Given the description of an element on the screen output the (x, y) to click on. 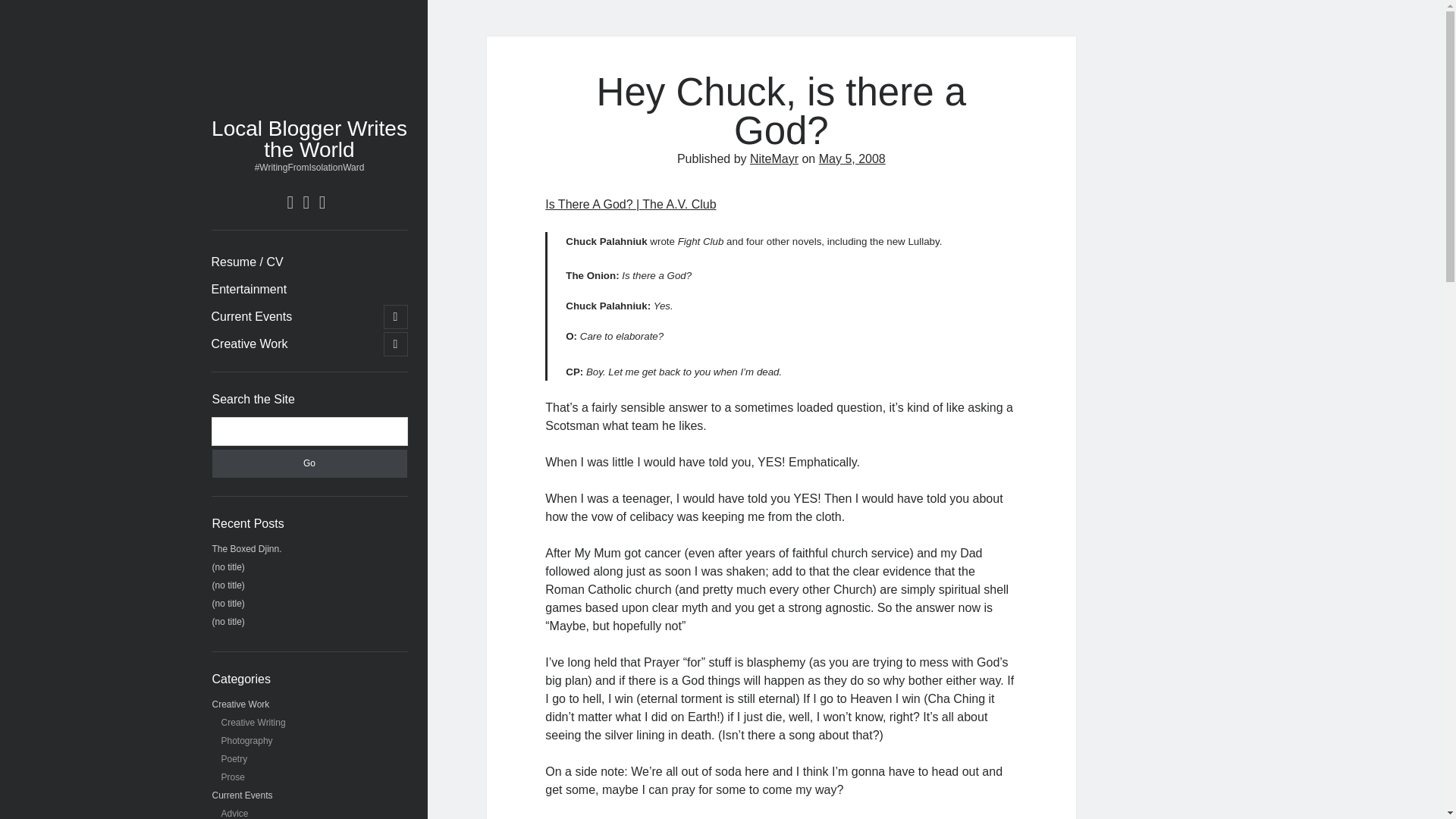
Go (309, 463)
open child menu (395, 316)
Creative Writing (253, 722)
Creative Work (248, 343)
Go (309, 463)
Current Events (251, 316)
Advice (234, 813)
Current Events (242, 795)
Photography (247, 740)
Creative Work (240, 704)
